Given the description of an element on the screen output the (x, y) to click on. 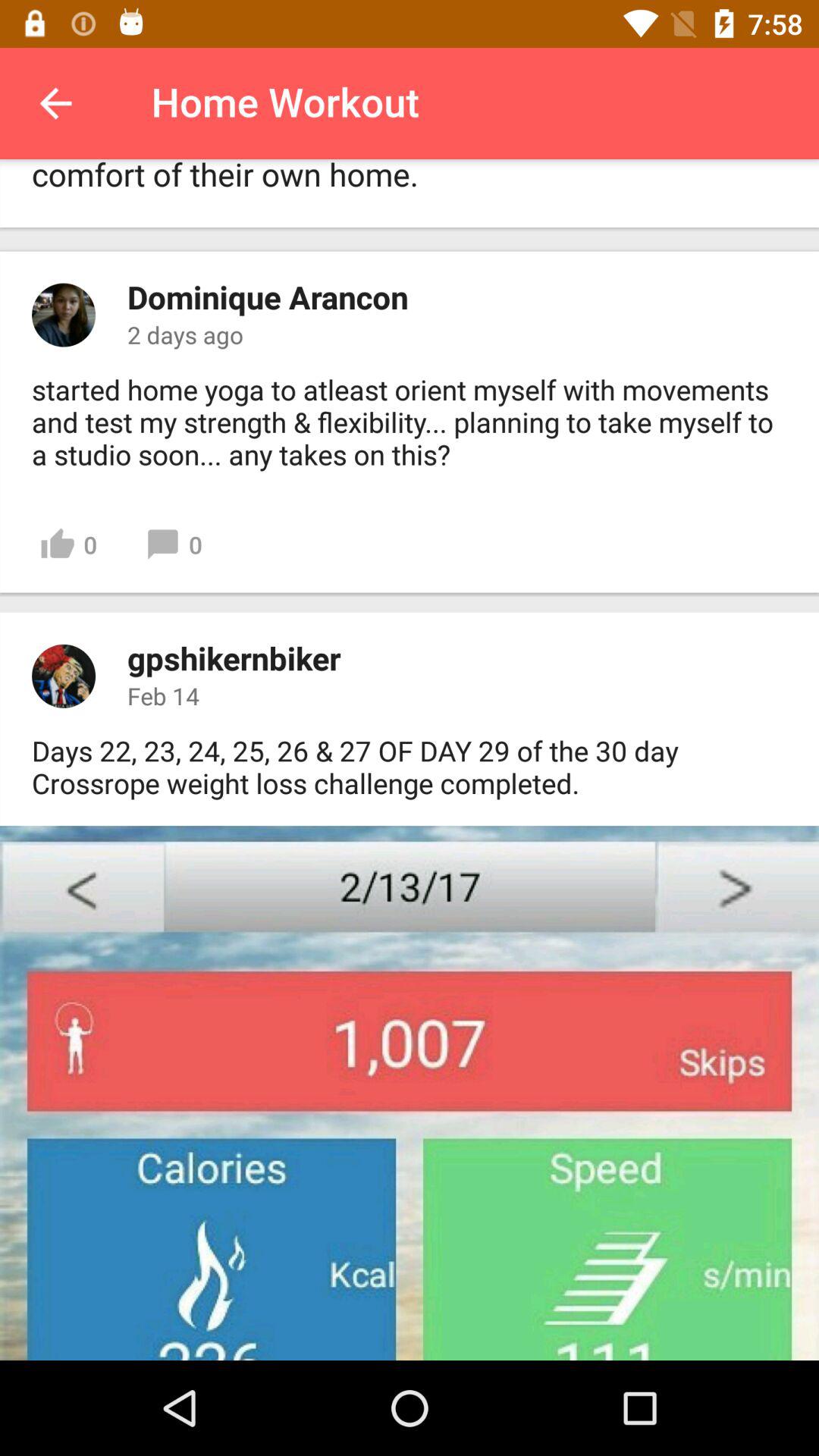
workout points (409, 1092)
